Given the description of an element on the screen output the (x, y) to click on. 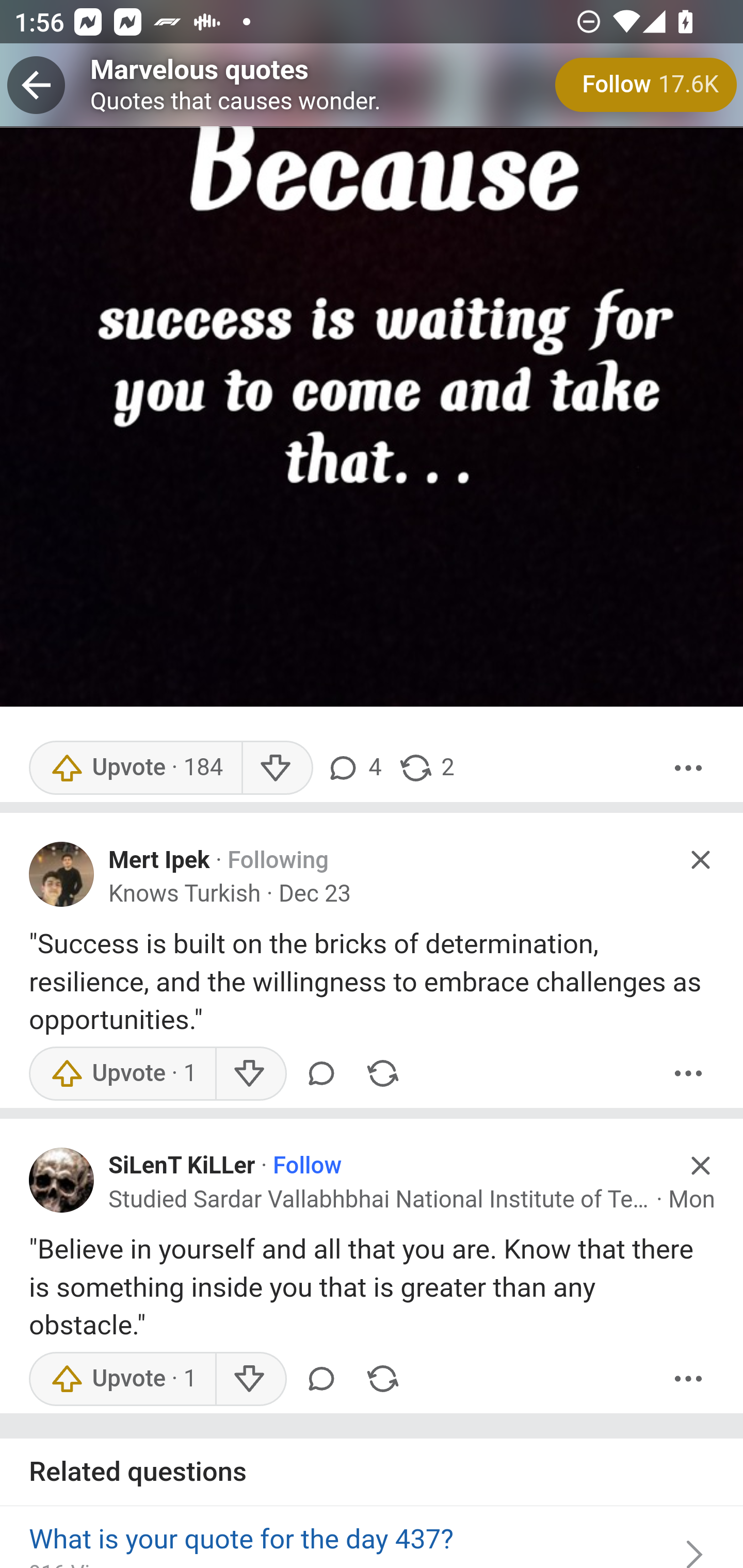
main-qimg-30191870808d2ebc929fa5c704f64d5a (371, 353)
Marvelous quotes (200, 70)
Follow 17.6K (646, 85)
Hide (700, 859)
Profile photo for Mert Ipek (61, 875)
Mert Ipek (159, 861)
Following (278, 861)
Hide (700, 1167)
Profile photo for SiLenT KiLLer (61, 1180)
SiLenT KiLLer (182, 1166)
Follow (307, 1166)
